Given the description of an element on the screen output the (x, y) to click on. 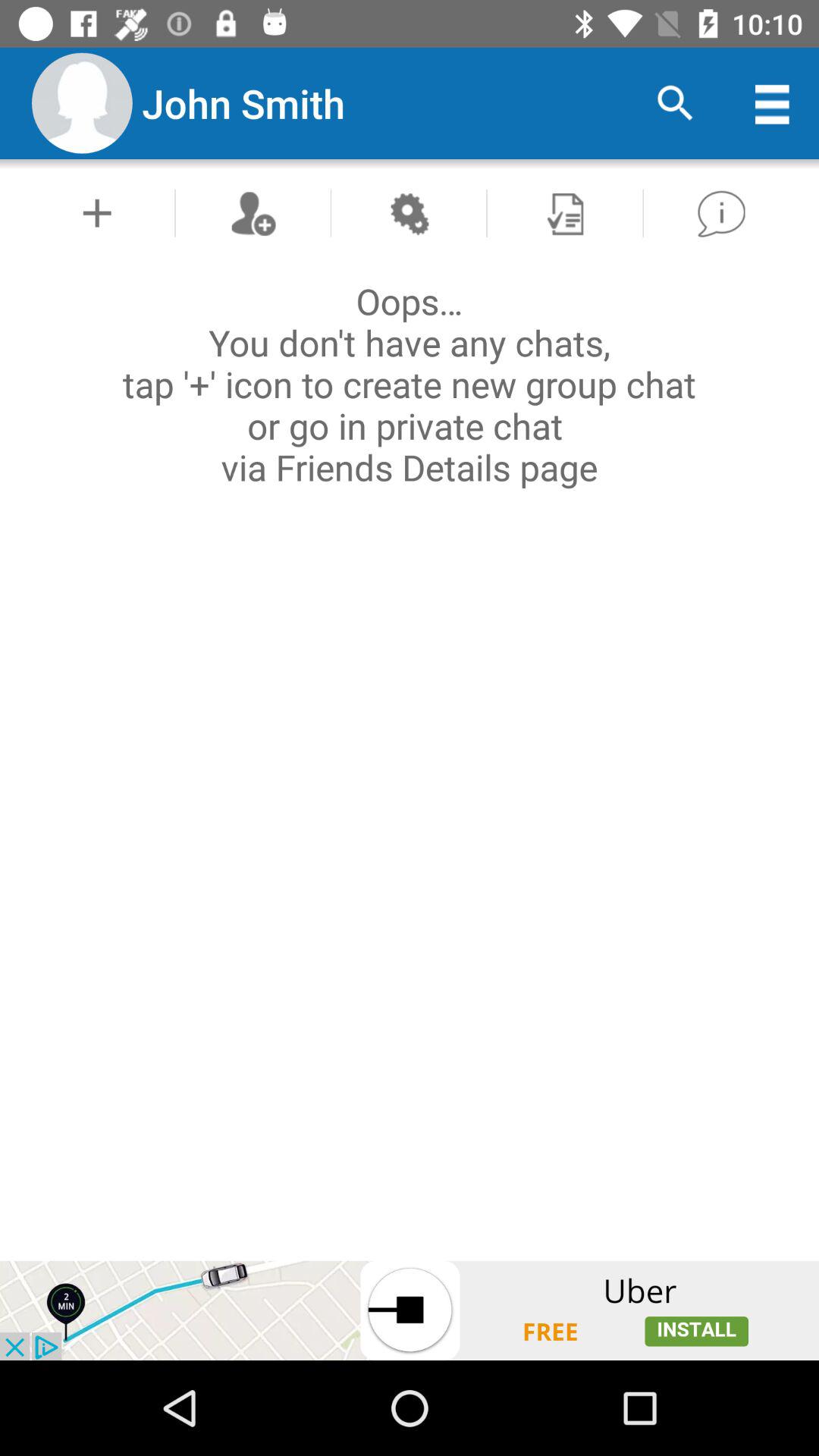
show help (721, 213)
